Given the description of an element on the screen output the (x, y) to click on. 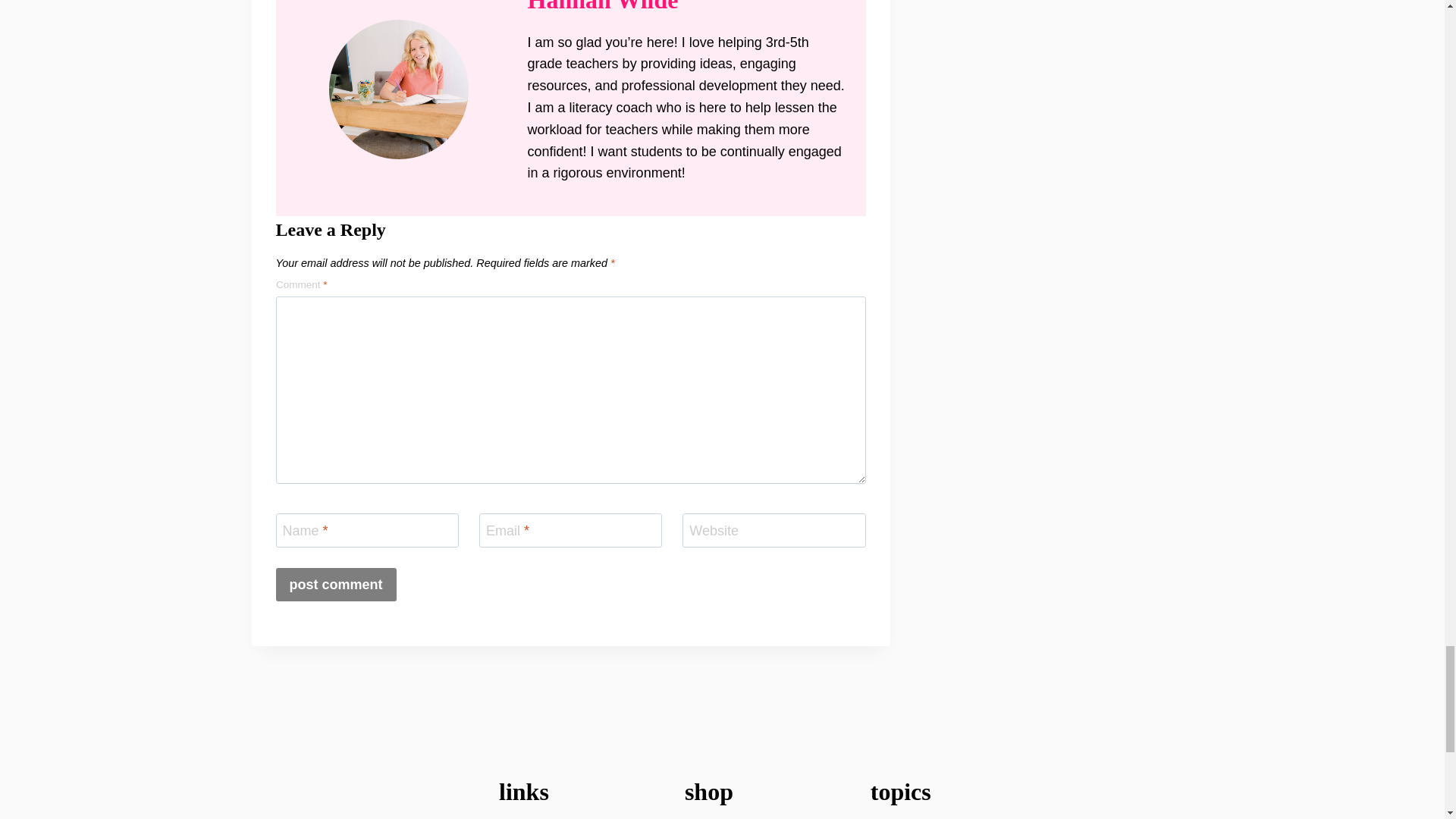
Post Comment (336, 584)
